Given the description of an element on the screen output the (x, y) to click on. 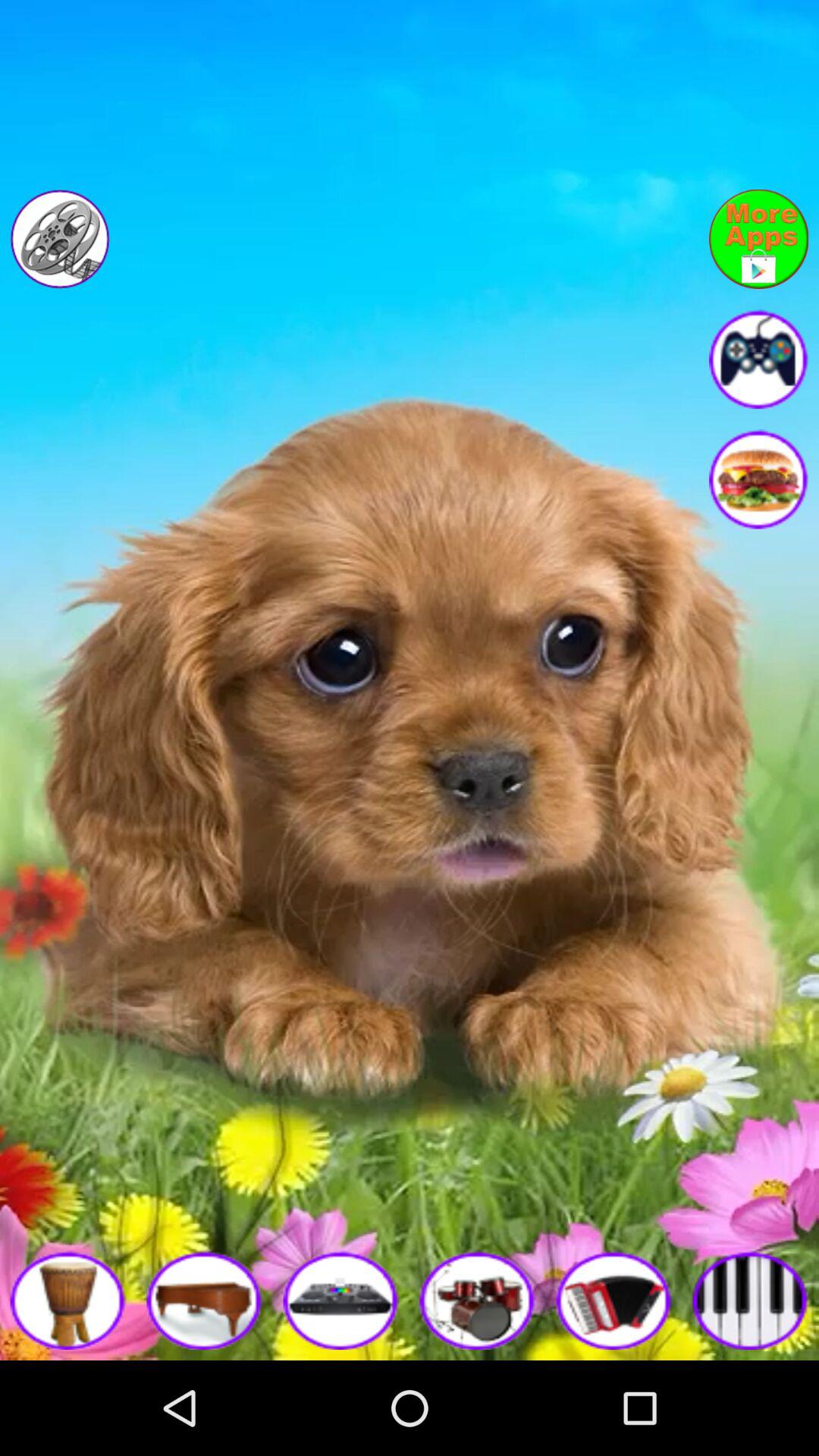
feed the dog (758, 478)
